Given the description of an element on the screen output the (x, y) to click on. 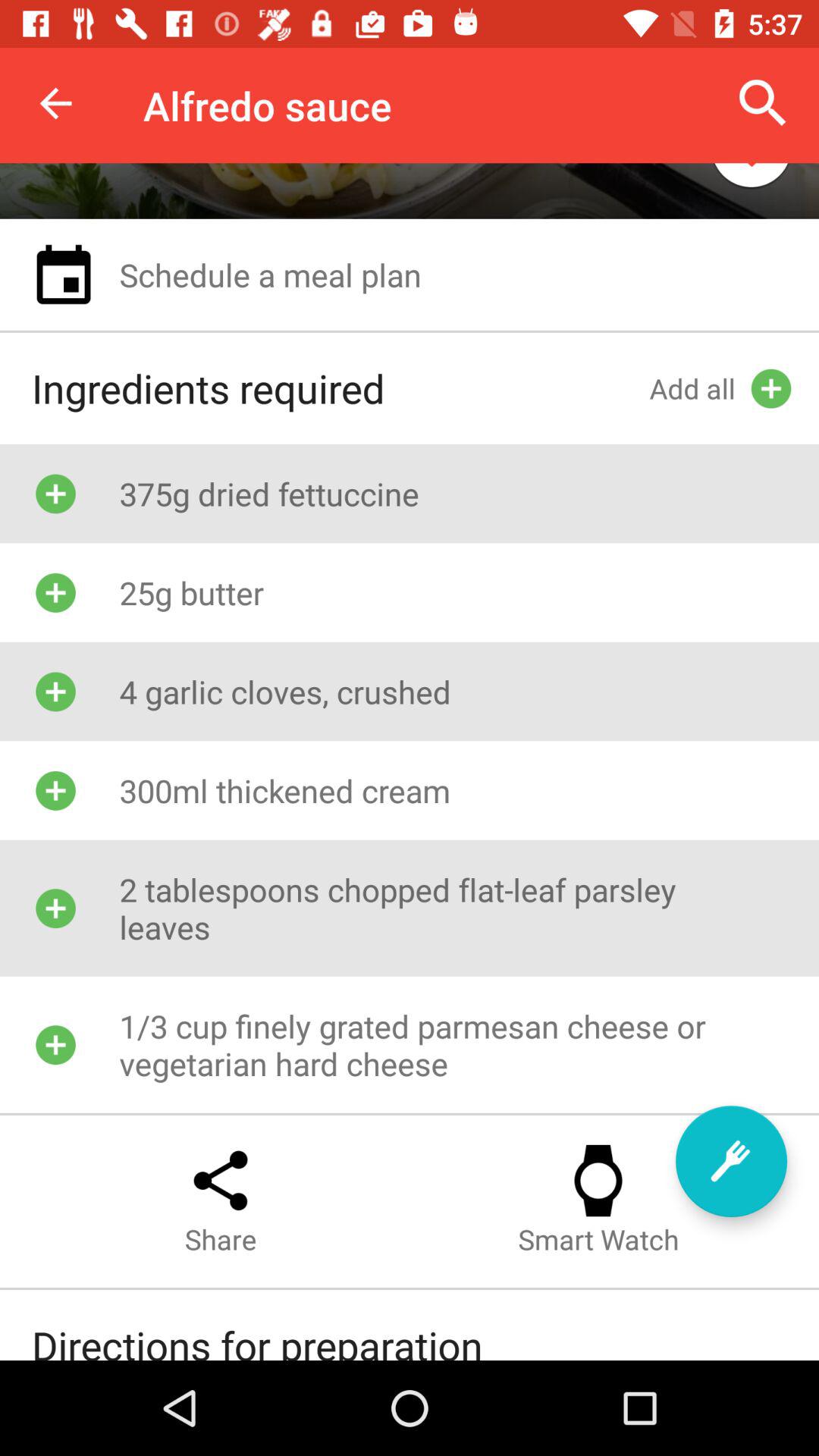
choose the item above schedule a meal (751, 179)
